Given the description of an element on the screen output the (x, y) to click on. 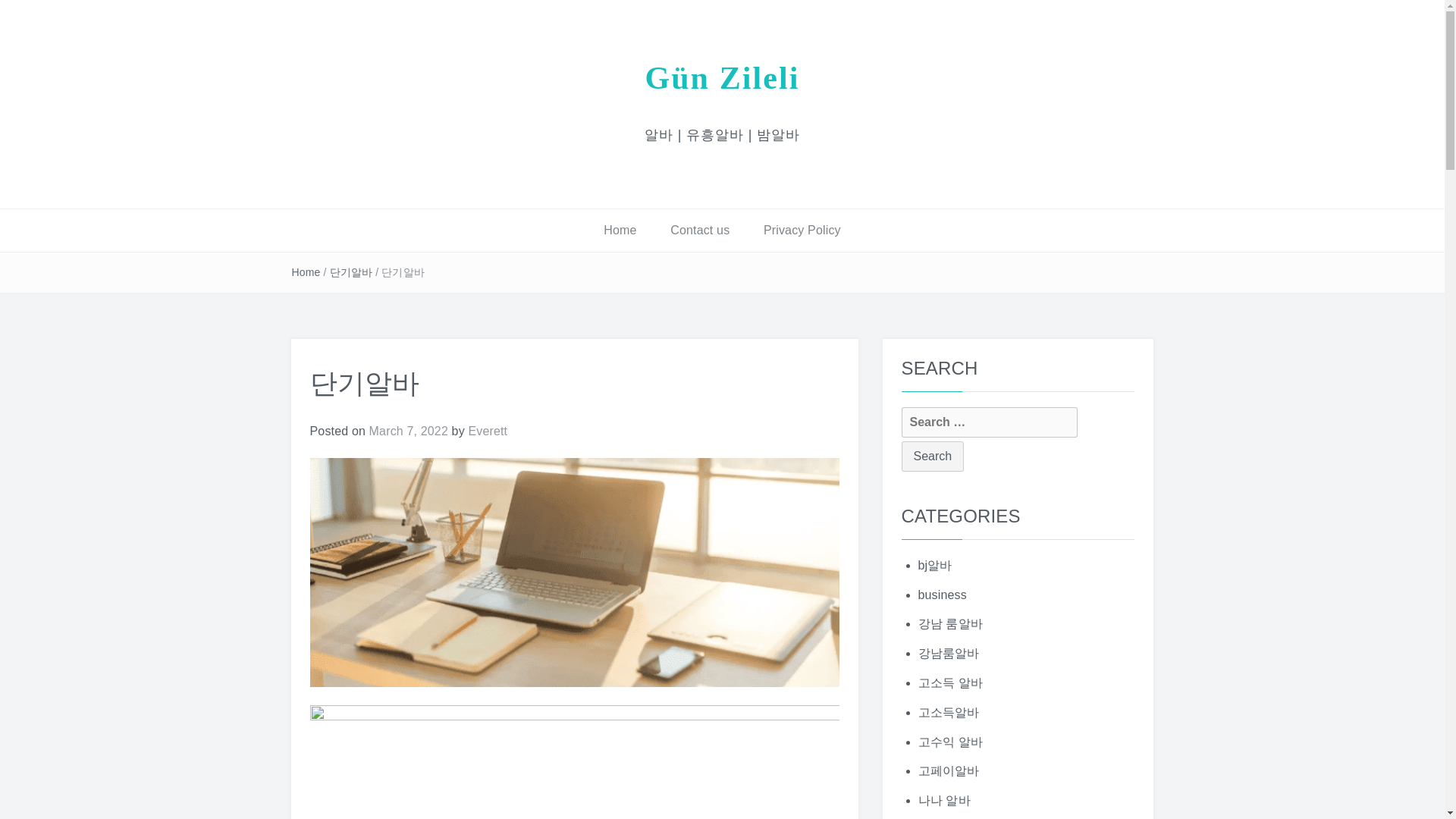
Contact us (699, 230)
Privacy Policy (802, 230)
Search (932, 456)
Home (305, 272)
Everett (486, 431)
Search (932, 456)
Search (932, 456)
March 7, 2022 (408, 431)
Home (619, 230)
business (941, 594)
